Given the description of an element on the screen output the (x, y) to click on. 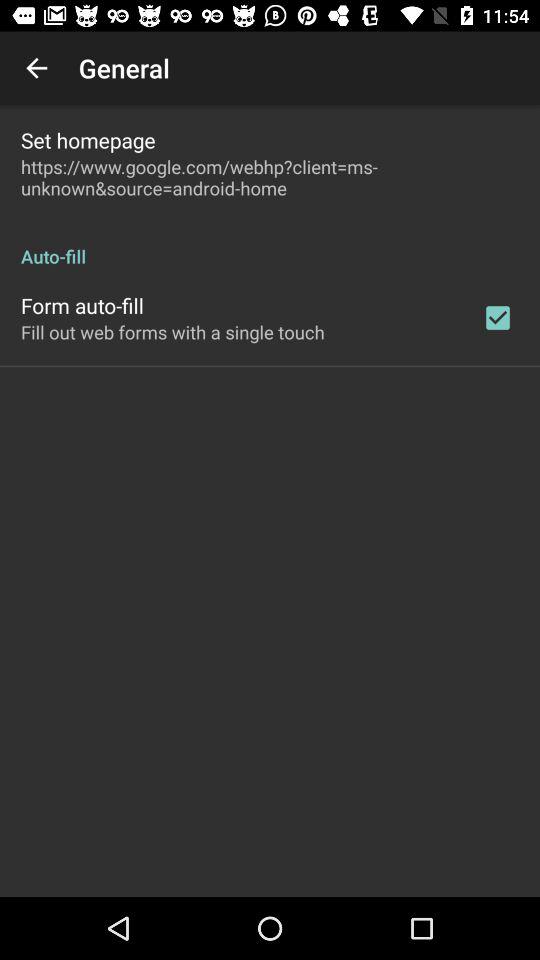
turn off the item above set homepage item (36, 68)
